Given the description of an element on the screen output the (x, y) to click on. 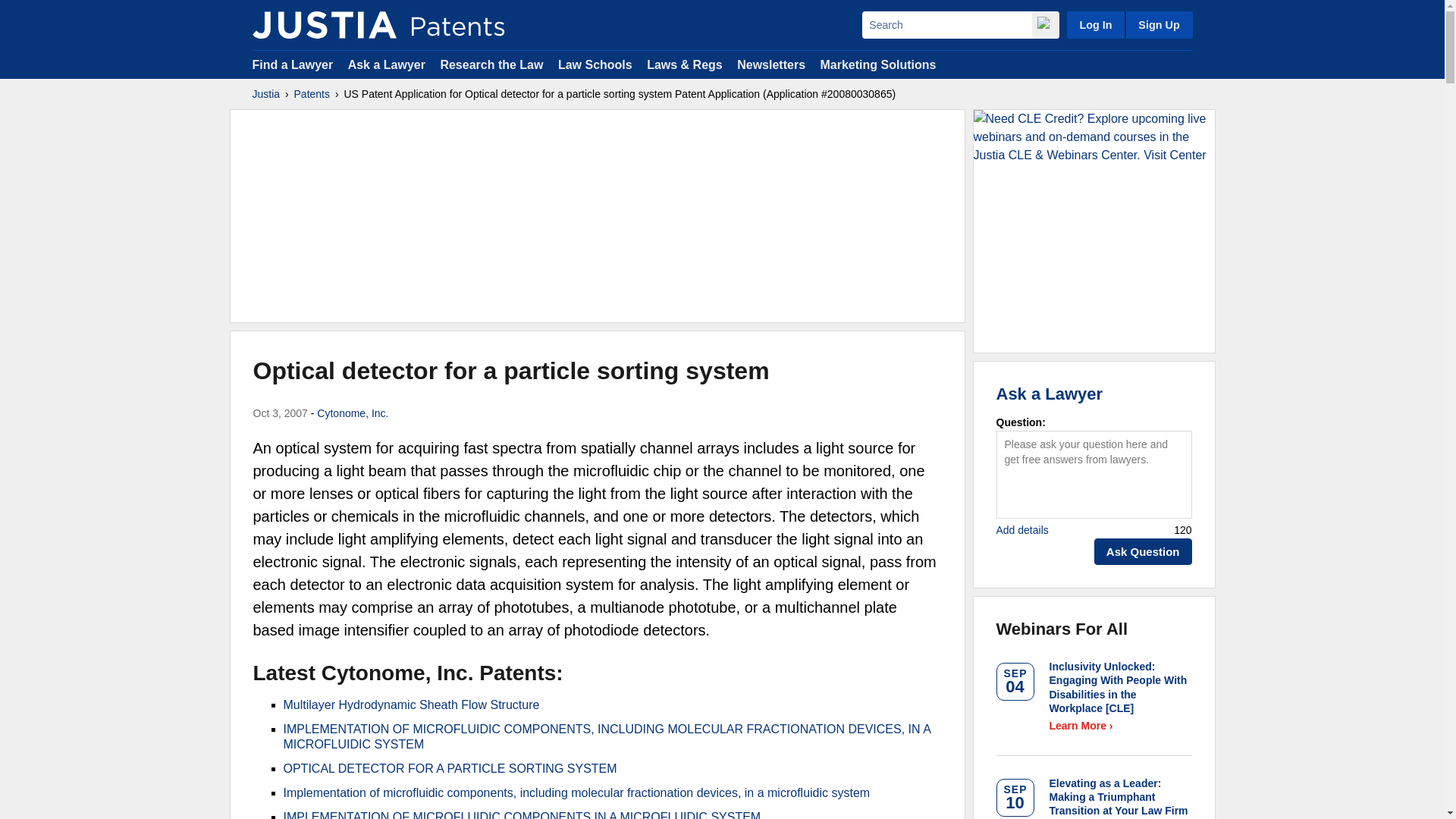
Ask a Lawyer (386, 64)
Patents (312, 93)
Cytonome, Inc. (352, 413)
Sign Up (1158, 24)
Search (945, 24)
Research the Law (491, 64)
Law Schools (594, 64)
Newsletters (770, 64)
Log In (1094, 24)
